Given the description of an element on the screen output the (x, y) to click on. 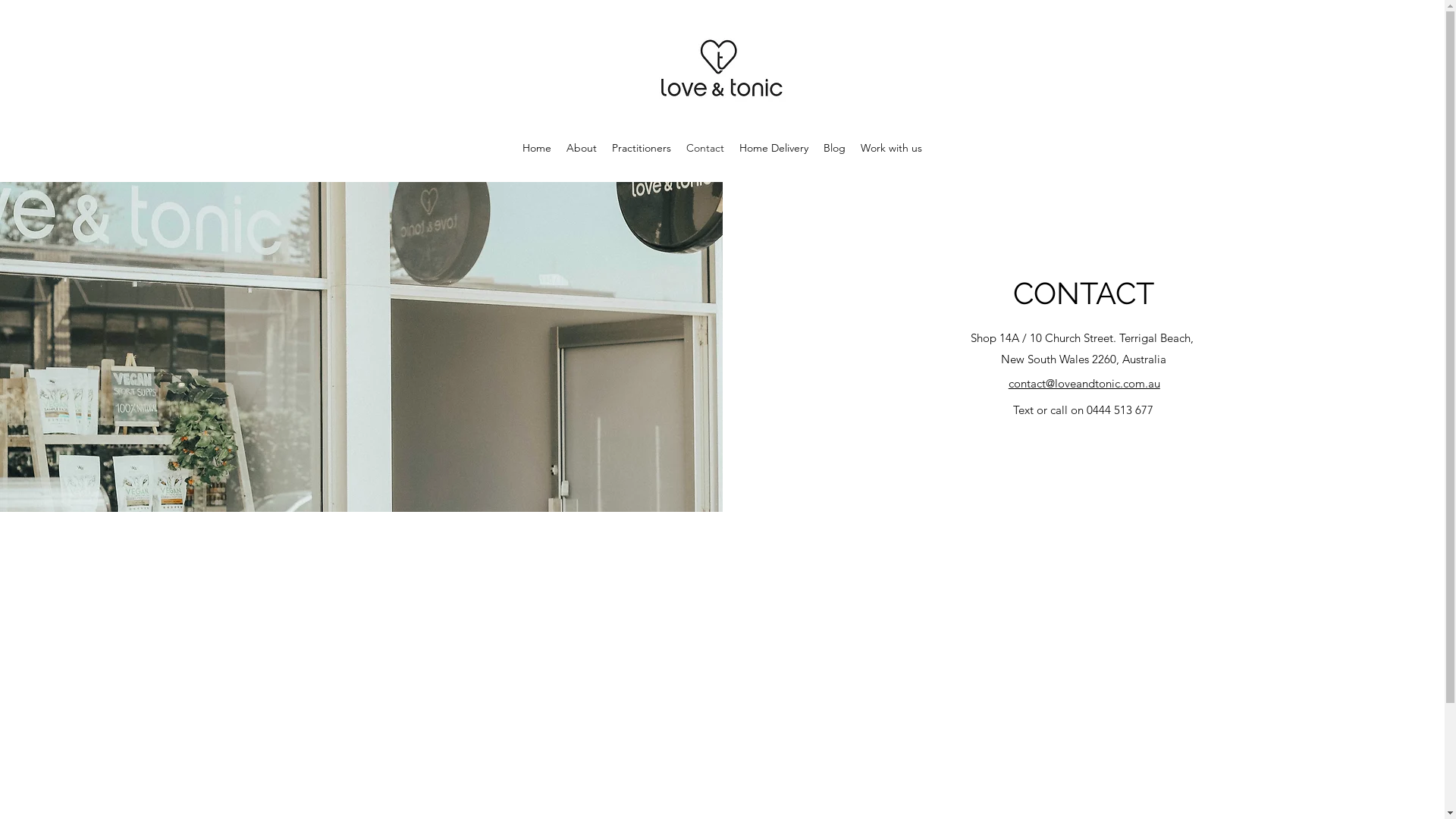
Work with us Element type: text (891, 147)
contact@loveandtonic.com.au Element type: text (1084, 383)
About Element type: text (581, 147)
Blog Element type: text (834, 147)
Contact Element type: text (704, 147)
Home Element type: text (536, 147)
Practitioners Element type: text (641, 147)
Home Delivery Element type: text (773, 147)
